Given the description of an element on the screen output the (x, y) to click on. 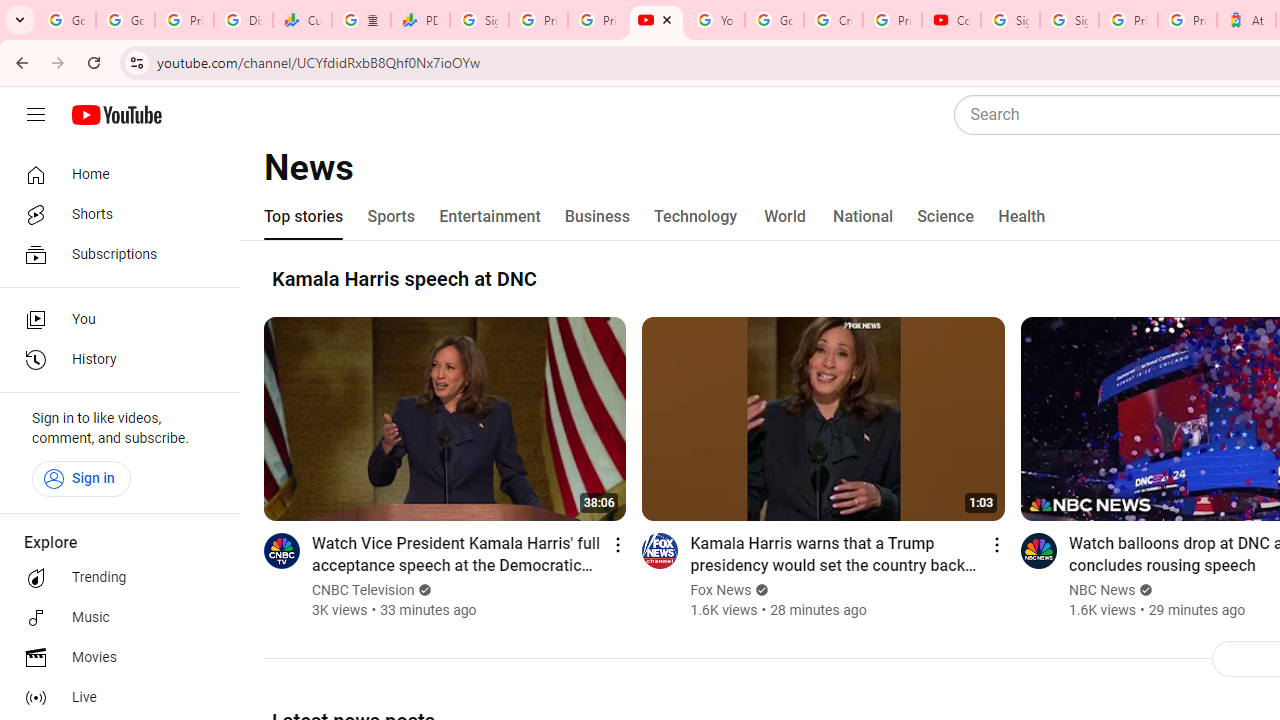
Create your Google Account (832, 20)
Go to channel (1038, 550)
Business (597, 216)
Top stories (303, 216)
NBC News (1101, 590)
Live (113, 697)
YouTube Home (116, 115)
Subscriptions (113, 254)
Currencies - Google Finance (301, 20)
Health (1021, 216)
Privacy Checkup (597, 20)
